Given the description of an element on the screen output the (x, y) to click on. 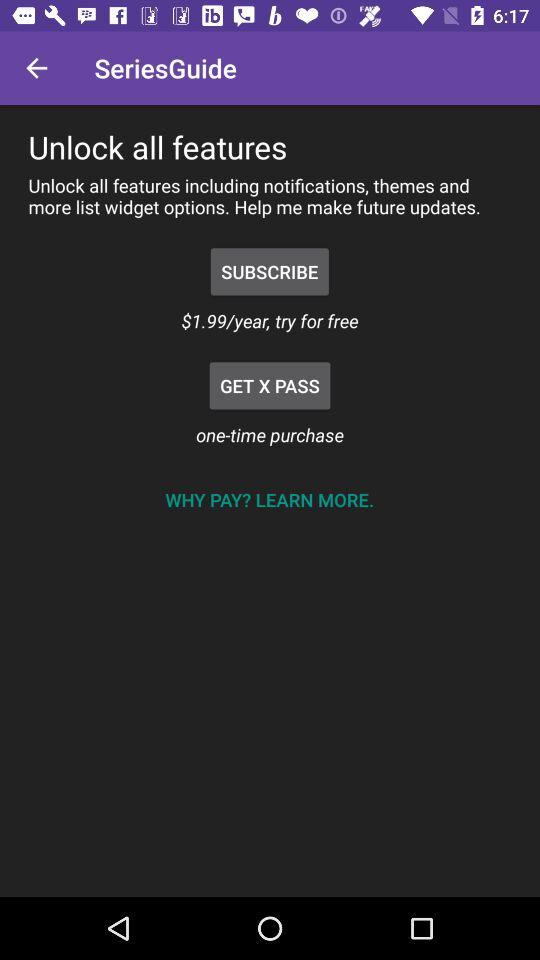
open the icon below one-time purchase item (269, 499)
